Given the description of an element on the screen output the (x, y) to click on. 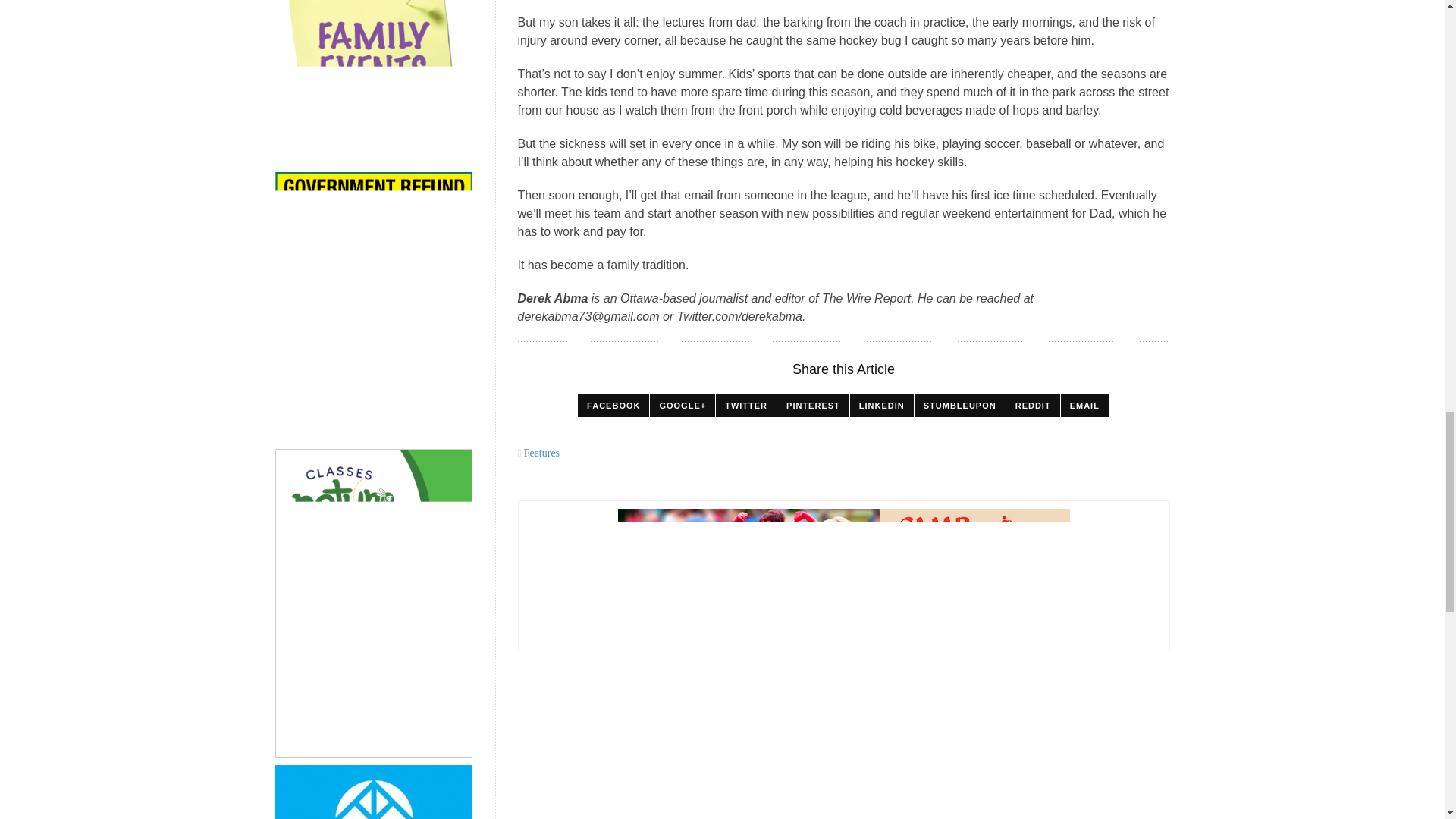
Share this Entry on Facebook (613, 404)
